Given the description of an element on the screen output the (x, y) to click on. 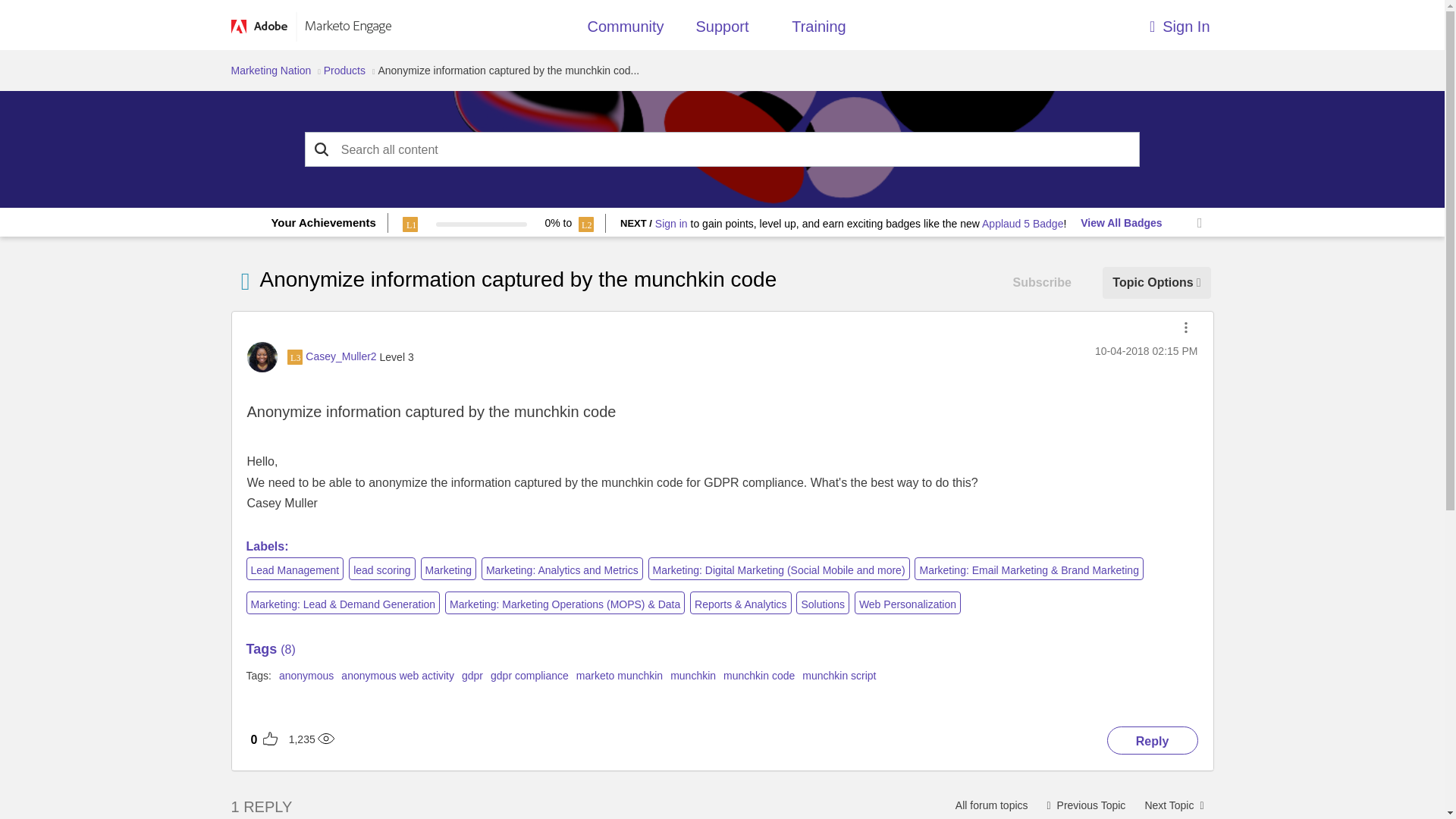
lead scoring (381, 568)
Posted on (1145, 351)
Topic Options (1155, 282)
View All Badges (1120, 223)
Product Discussions (991, 804)
Level 3 (294, 356)
Show option menu (1155, 282)
Sign In (1090, 22)
Marketing Nation (270, 70)
Solutions (822, 602)
Lead Management (294, 568)
Community (624, 30)
Sign in (671, 223)
Show option menu (1185, 327)
